Given the description of an element on the screen output the (x, y) to click on. 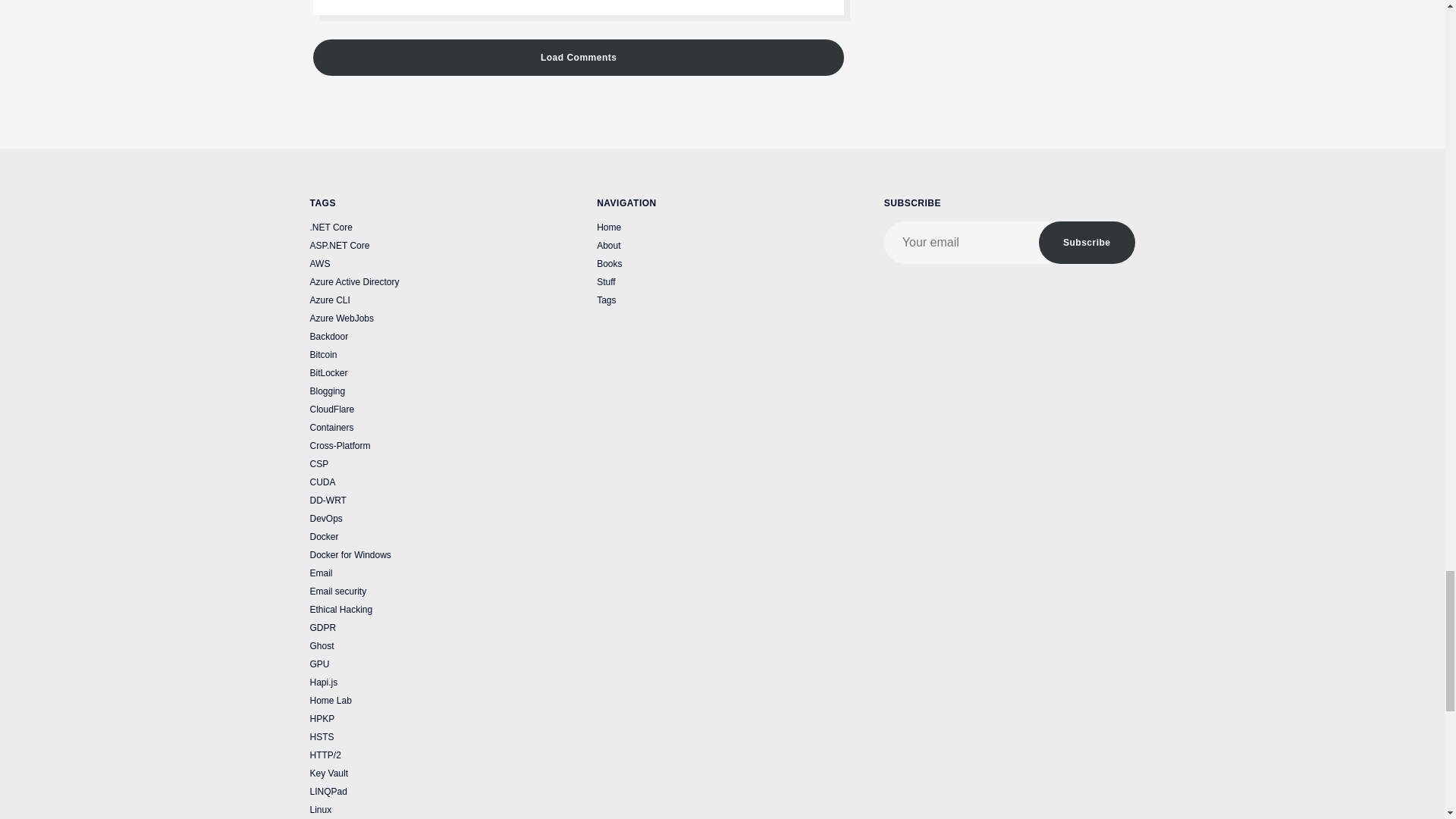
Load Comments (578, 57)
